Given the description of an element on the screen output the (x, y) to click on. 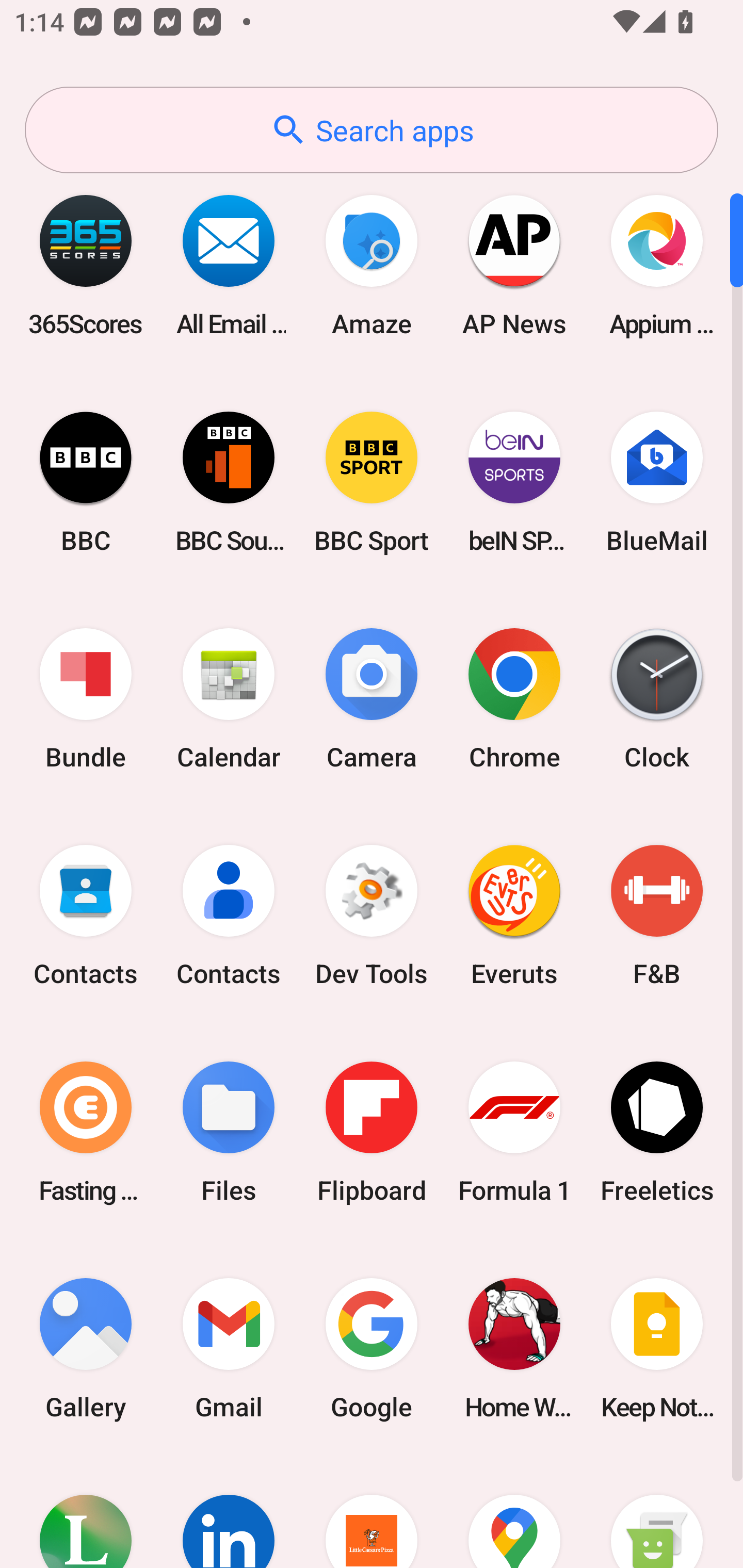
  Search apps (371, 130)
365Scores (85, 264)
All Email Connect (228, 264)
Amaze (371, 264)
AP News (514, 264)
Appium Settings (656, 264)
BBC (85, 482)
BBC Sounds (228, 482)
BBC Sport (371, 482)
beIN SPORTS (514, 482)
BlueMail (656, 482)
Bundle (85, 699)
Calendar (228, 699)
Camera (371, 699)
Chrome (514, 699)
Clock (656, 699)
Contacts (85, 915)
Contacts (228, 915)
Dev Tools (371, 915)
Everuts (514, 915)
F&B (656, 915)
Fasting Coach (85, 1131)
Files (228, 1131)
Flipboard (371, 1131)
Formula 1 (514, 1131)
Freeletics (656, 1131)
Gallery (85, 1348)
Gmail (228, 1348)
Google (371, 1348)
Home Workout (514, 1348)
Keep Notes (656, 1348)
Lifesum (85, 1512)
LinkedIn (228, 1512)
Little Caesars Pizza (371, 1512)
Maps (514, 1512)
Messaging (656, 1512)
